Given the description of an element on the screen output the (x, y) to click on. 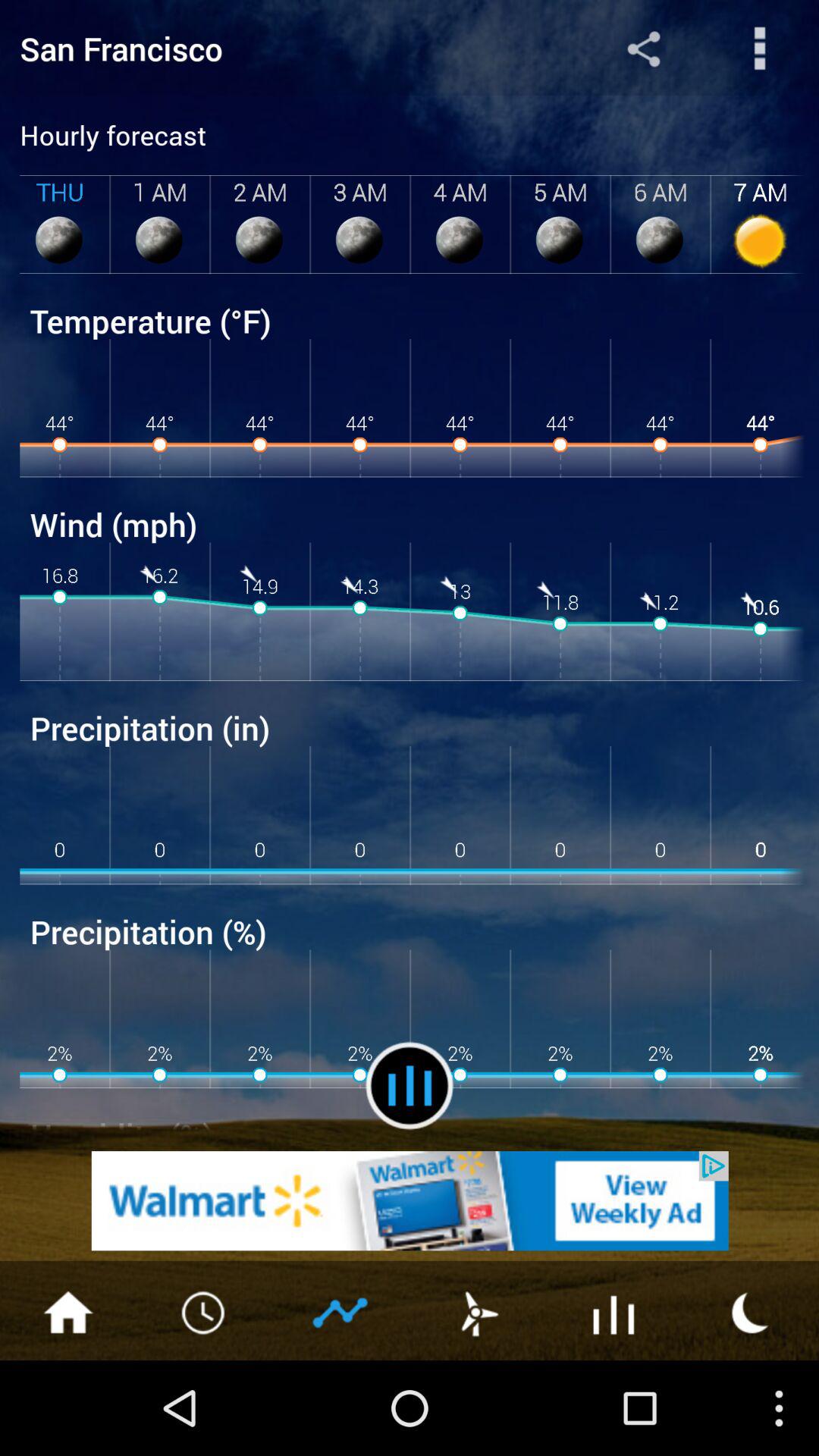
go to advertisement (750, 1311)
